Given the description of an element on the screen output the (x, y) to click on. 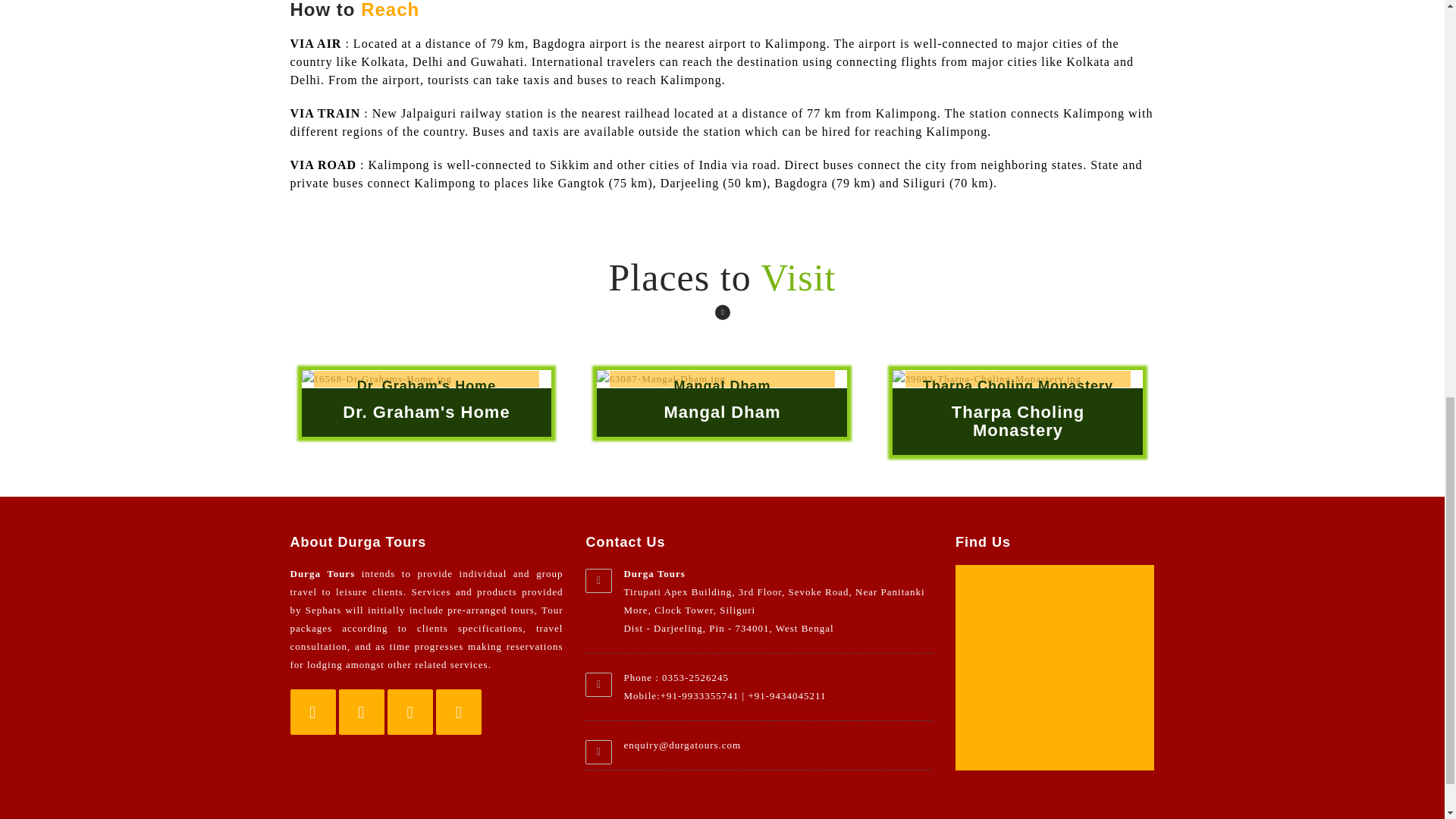
39693-Tharpa-Choling-Monastery.jpg (1017, 379)
63087-Mangal-Dham.jpg (721, 379)
16568-Dr-Grahams-Home.jpg (426, 379)
